Given the description of an element on the screen output the (x, y) to click on. 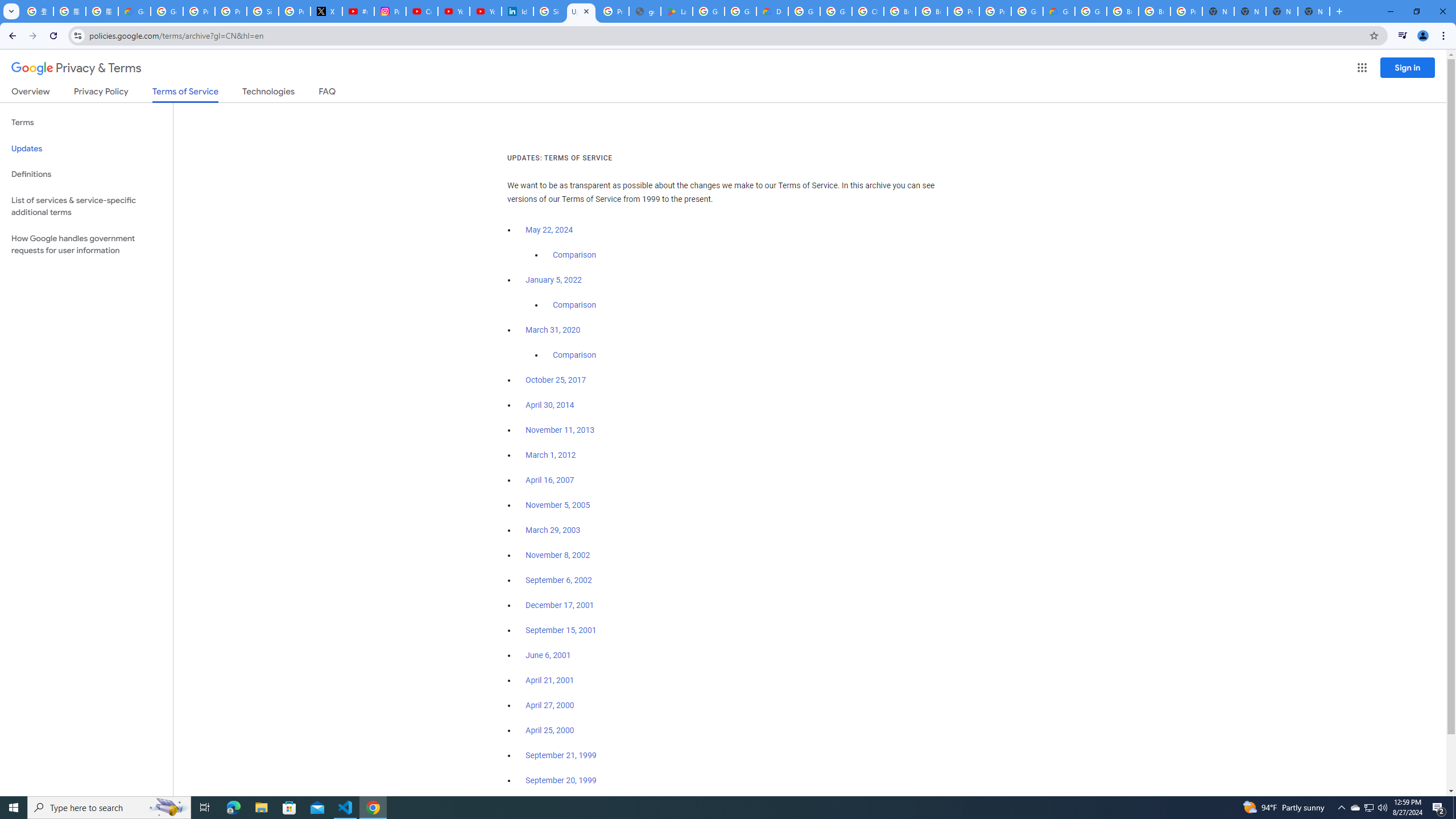
New Tab (1313, 11)
March 31, 2020 (552, 330)
Browse Chrome as a guest - Computer - Google Chrome Help (1123, 11)
Last Shelter: Survival - Apps on Google Play (676, 11)
